Given the description of an element on the screen output the (x, y) to click on. 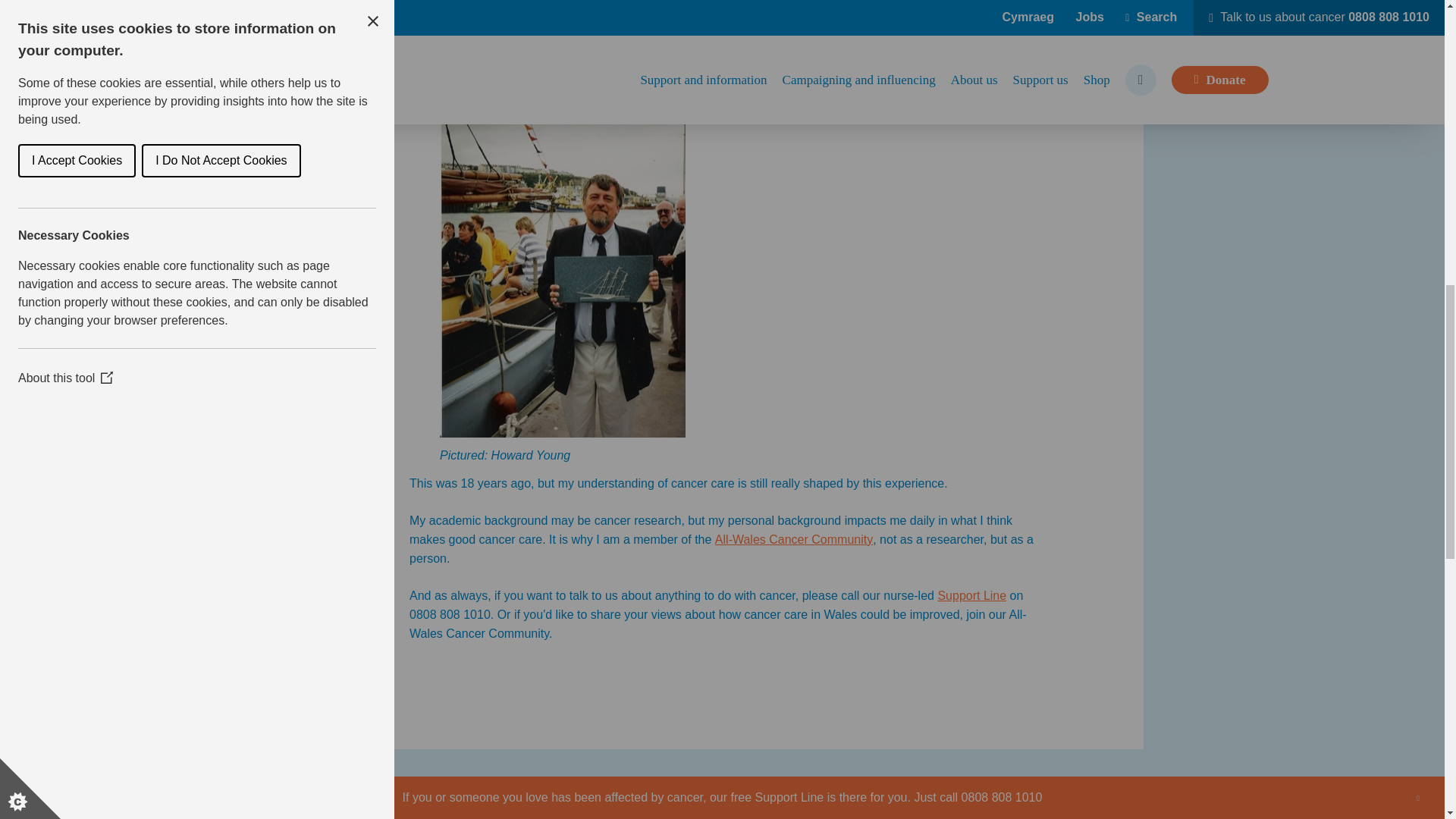
Nurse-led Support Line (971, 595)
